Given the description of an element on the screen output the (x, y) to click on. 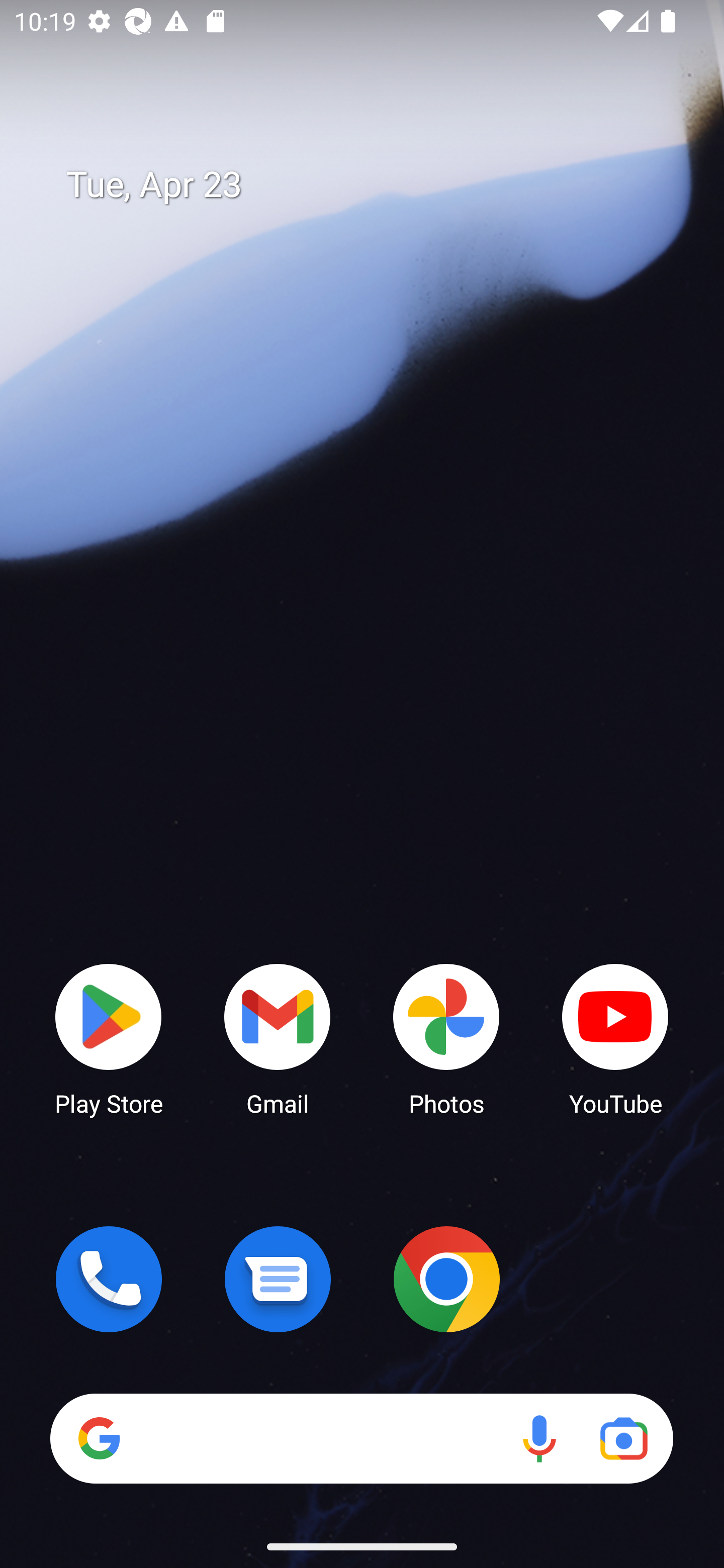
Tue, Apr 23 (375, 184)
Play Store (108, 1038)
Gmail (277, 1038)
Photos (445, 1038)
YouTube (615, 1038)
Phone (108, 1279)
Messages (277, 1279)
Chrome (446, 1279)
Search Voice search Google Lens (361, 1438)
Voice search (539, 1438)
Google Lens (623, 1438)
